Given the description of an element on the screen output the (x, y) to click on. 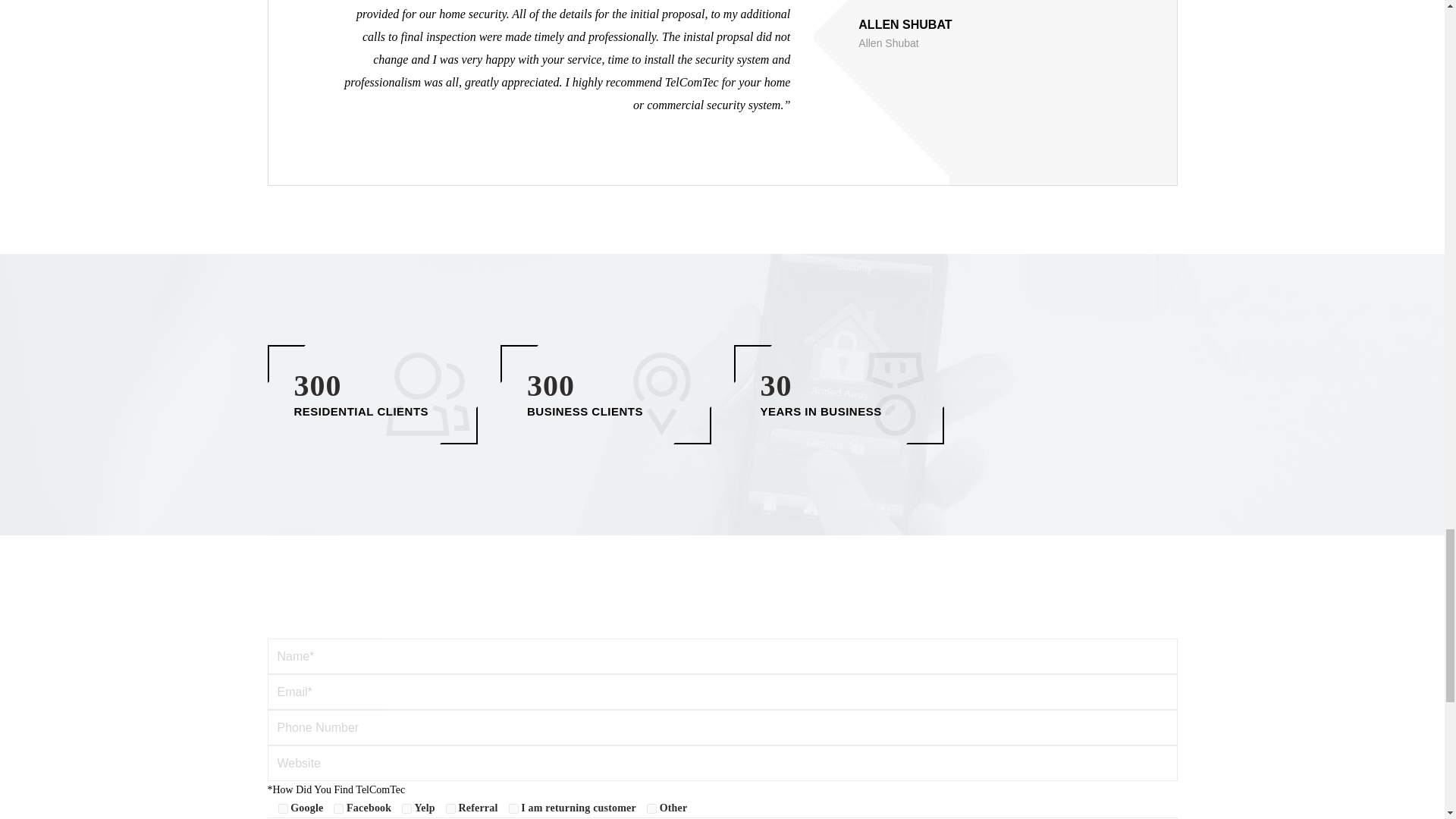
Yelp (406, 808)
Facebook (338, 808)
Google (282, 808)
Referral (450, 808)
I am returning customer (513, 808)
Other (651, 808)
